Given the description of an element on the screen output the (x, y) to click on. 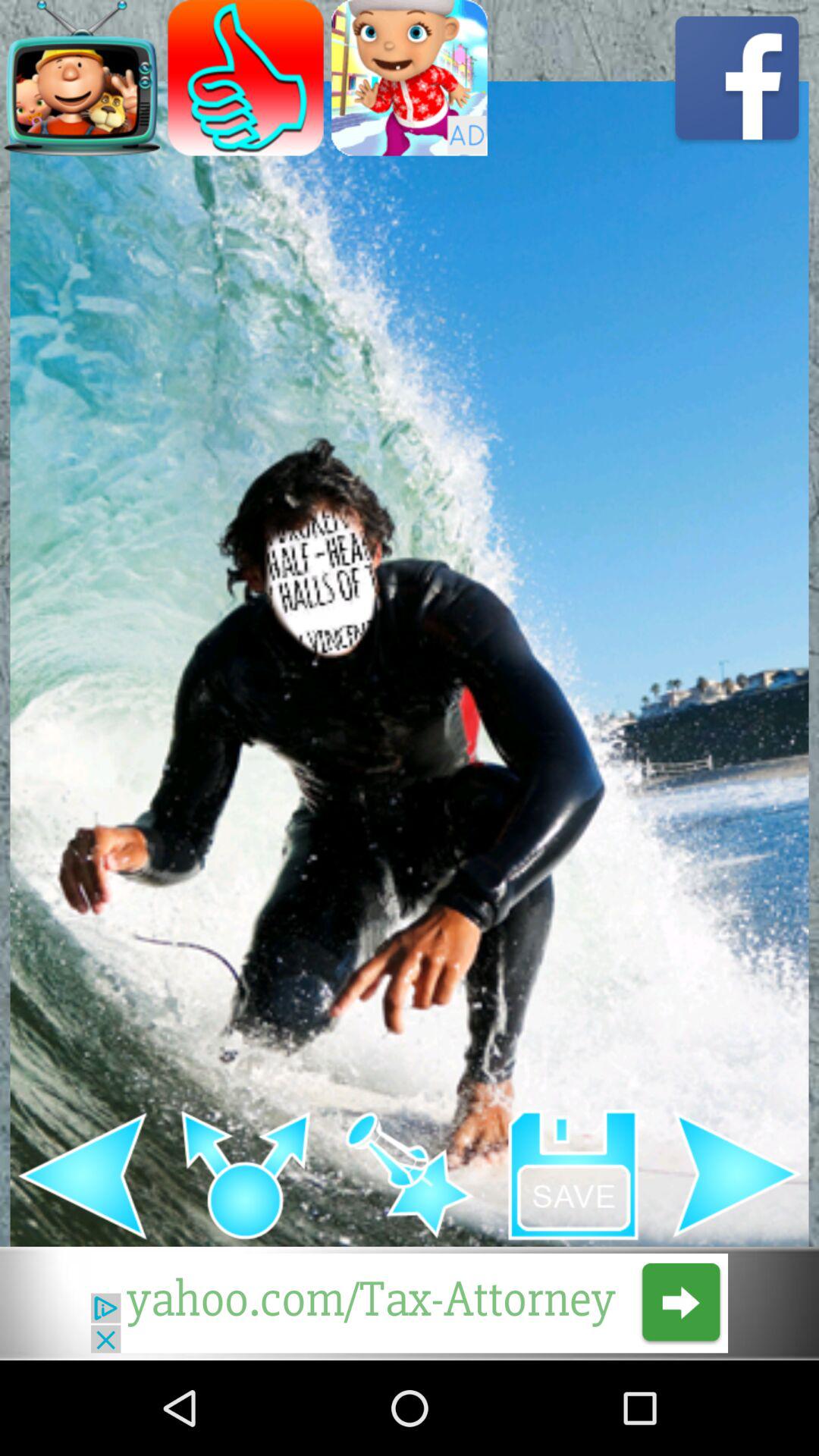
share to facebook (737, 77)
